Given the description of an element on the screen output the (x, y) to click on. 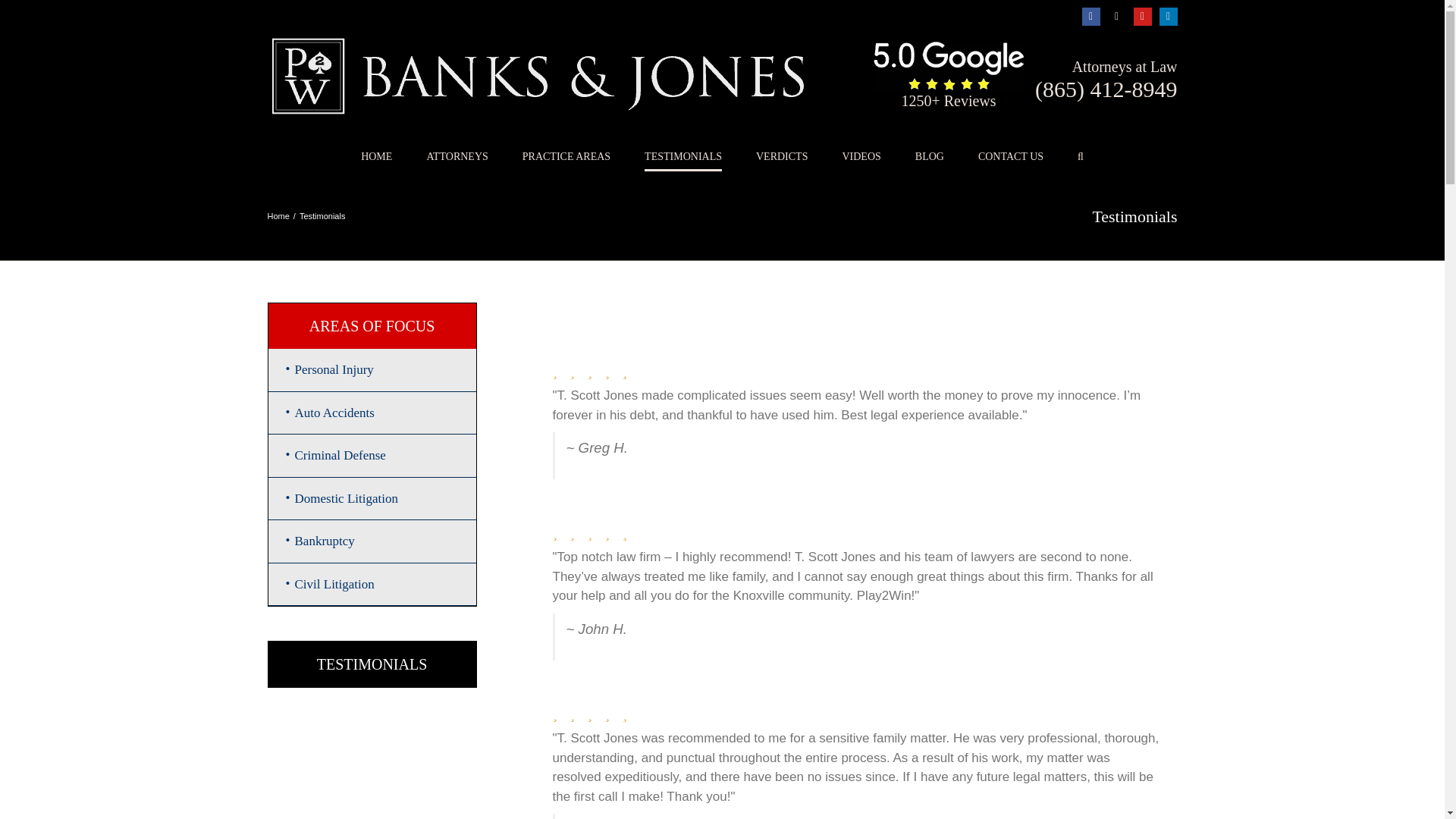
YouTube (1141, 16)
HOME (376, 156)
YouTube (1141, 16)
X (1115, 16)
LinkedIn (1167, 16)
Facebook (1090, 16)
PRACTICE AREAS (566, 156)
Facebook (1090, 16)
X (1115, 16)
LinkedIn (1167, 16)
